Given the description of an element on the screen output the (x, y) to click on. 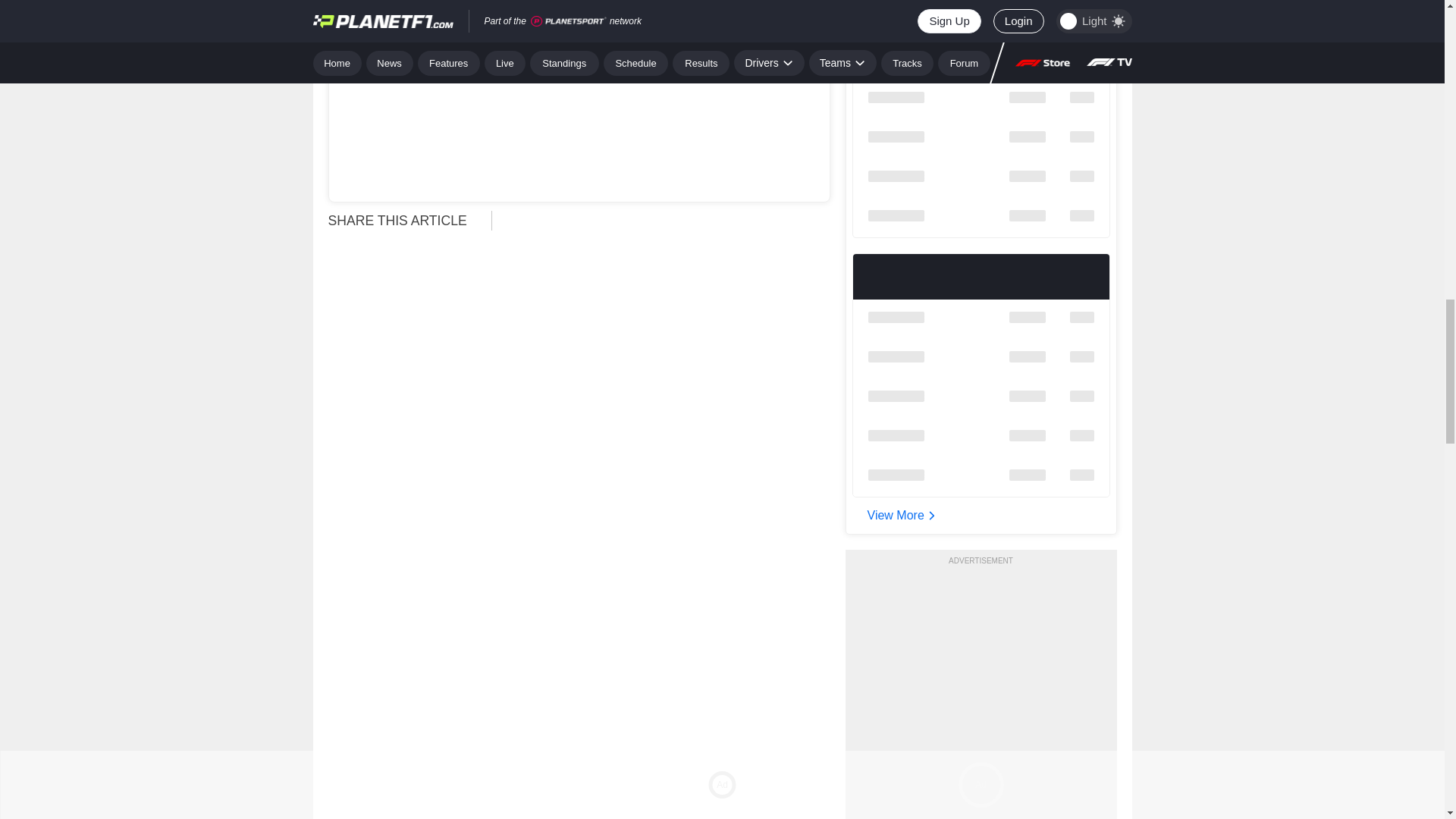
Vuukle Comments Widget (578, 627)
Vuukle Sharebar Widget (666, 219)
